Given the description of an element on the screen output the (x, y) to click on. 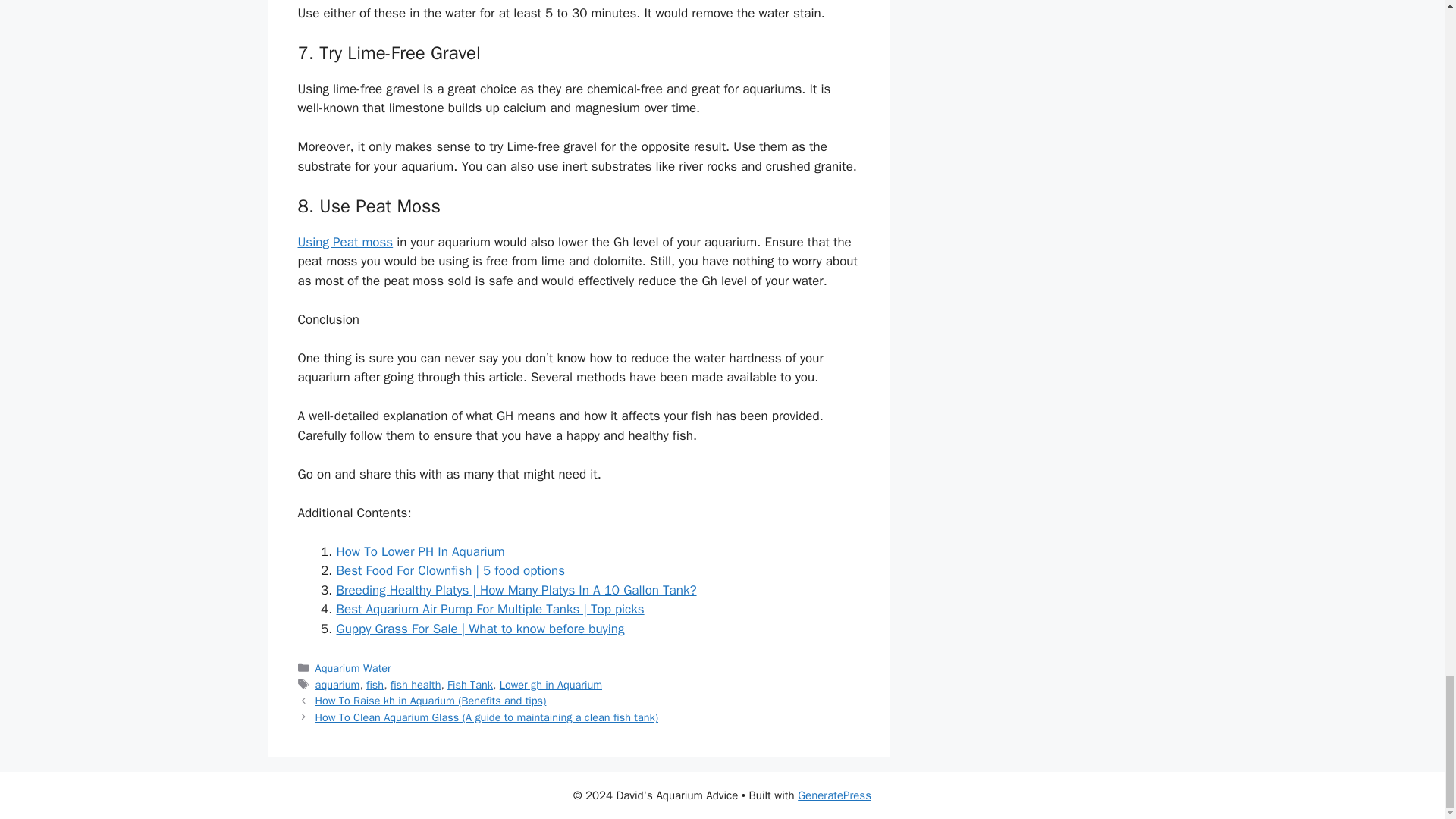
Using Peat moss (345, 242)
Aquarium Water (353, 667)
How To Lower PH In Aquarium (420, 551)
